Given the description of an element on the screen output the (x, y) to click on. 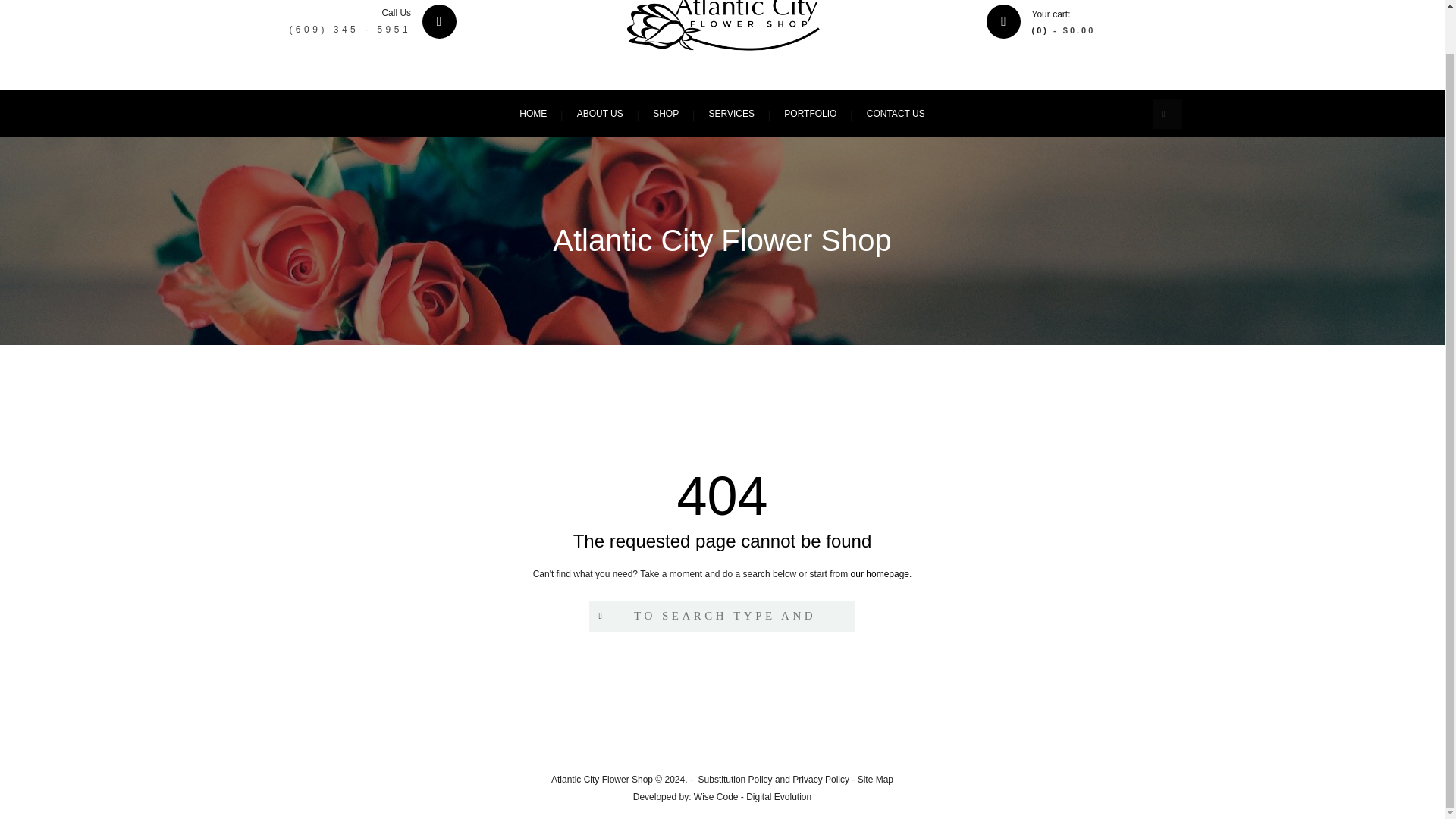
PORTFOLIO (810, 113)
SERVICES (730, 113)
Privacy Policy (820, 778)
our homepage (879, 573)
SHOP (666, 113)
ABOUT US (600, 113)
CONTACT US (896, 113)
HOME (532, 113)
Substitution Policy (735, 778)
- Site Map (870, 778)
Developed by: Wise Code - Digital Evolution (721, 796)
